Given the description of an element on the screen output the (x, y) to click on. 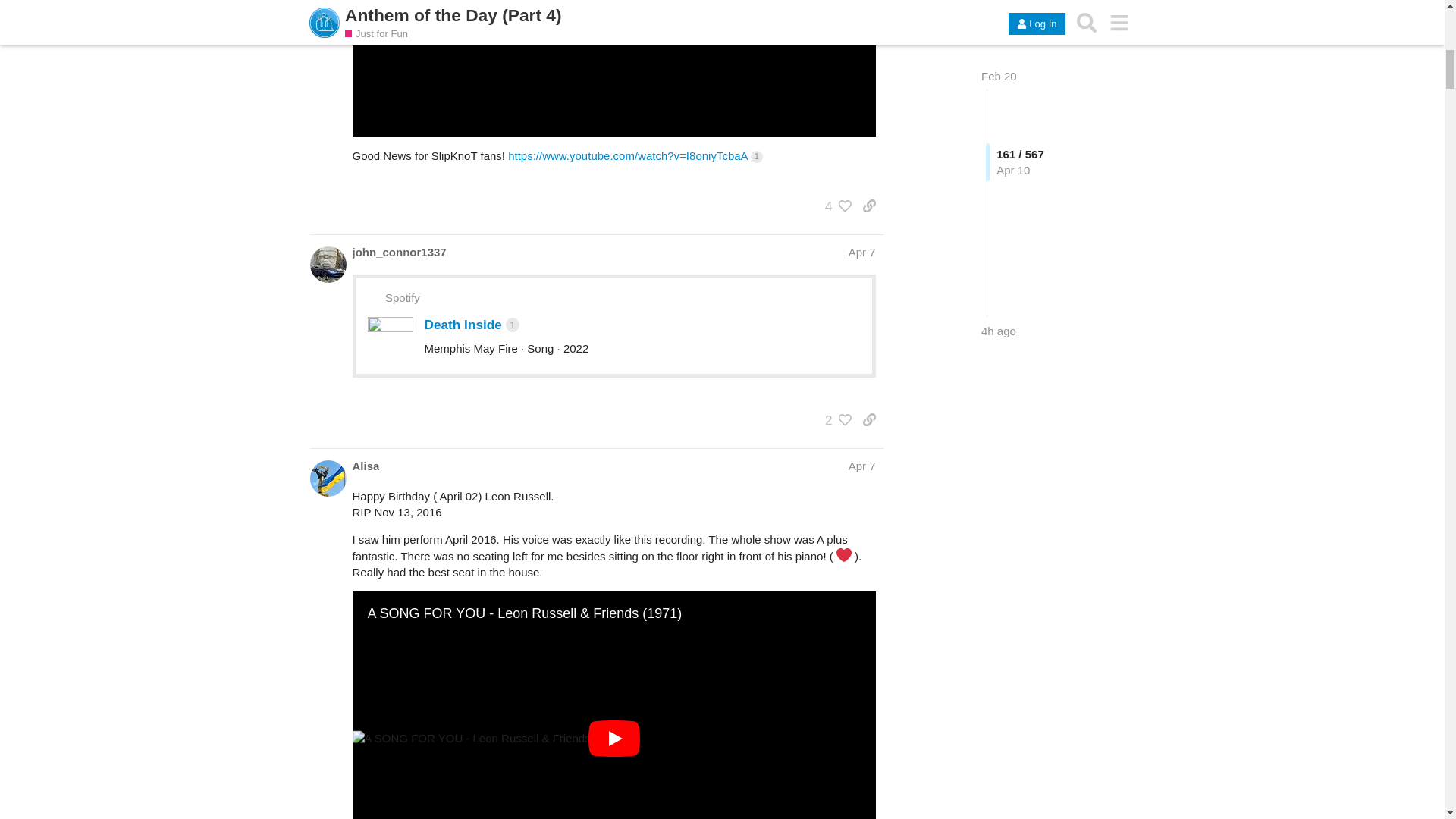
Apr 7 (862, 251)
Death Inside 1 (472, 324)
4 (833, 206)
2 (833, 420)
Apr 7 (862, 465)
Spotify (402, 297)
Alisa (365, 465)
